Given the description of an element on the screen output the (x, y) to click on. 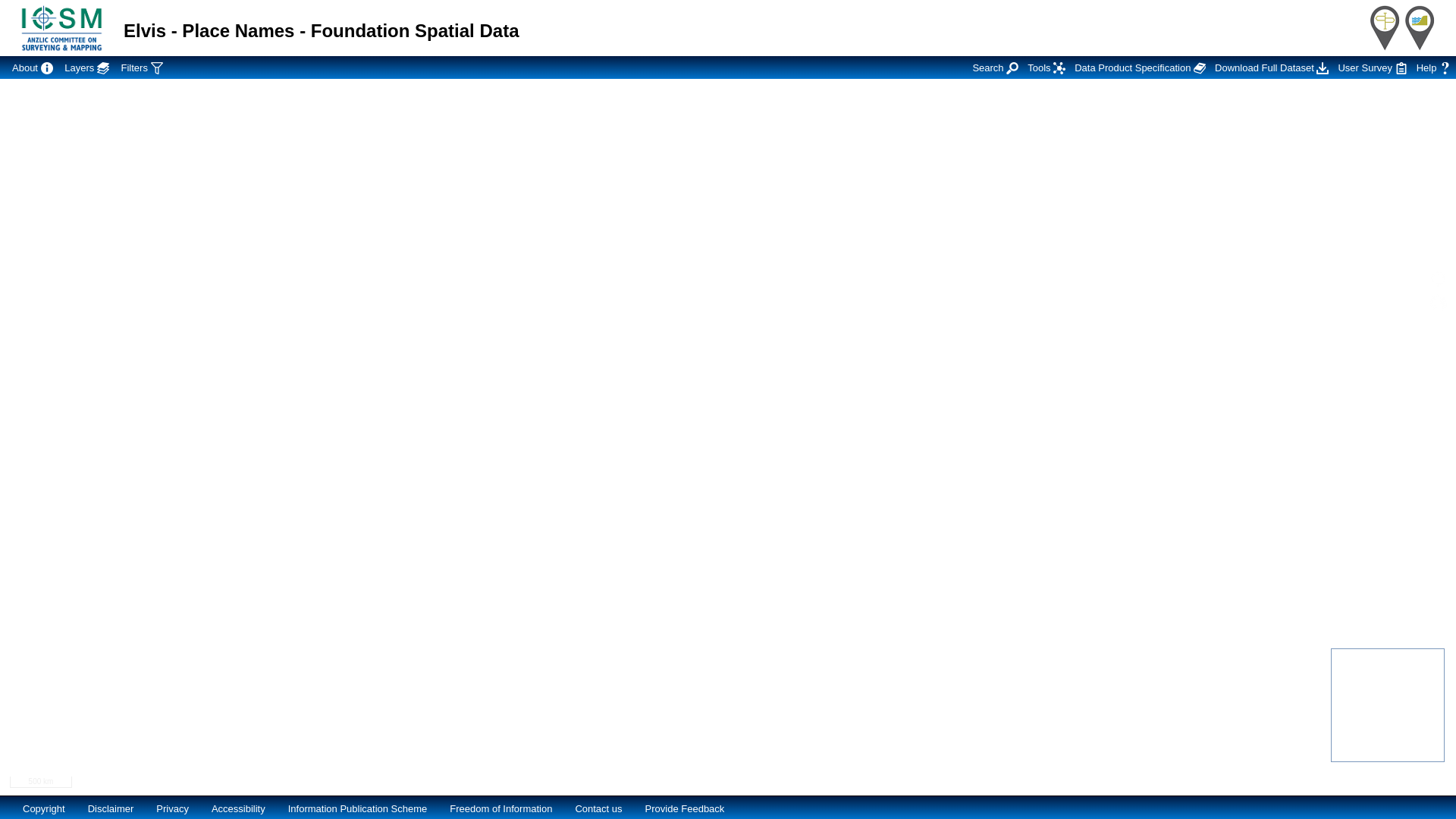
Data Product Specification Element type: text (1140, 67)
Search Element type: text (994, 67)
Go to Antarctic View Element type: hover (1437, 302)
User Survey Element type: text (1372, 67)
Layers Element type: text (86, 67)
Intergovernmental Committee on Surveying and Mapping Element type: hover (61, 28)
Elevation and Depth Element type: hover (1419, 27)
Download Full Dataset Element type: text (1271, 67)
Reset Element type: hover (1437, 278)
Place Names Element type: hover (1384, 27)
Tools Element type: text (1046, 67)
Filters Element type: text (141, 67)
About Element type: text (32, 67)
